Given the description of an element on the screen output the (x, y) to click on. 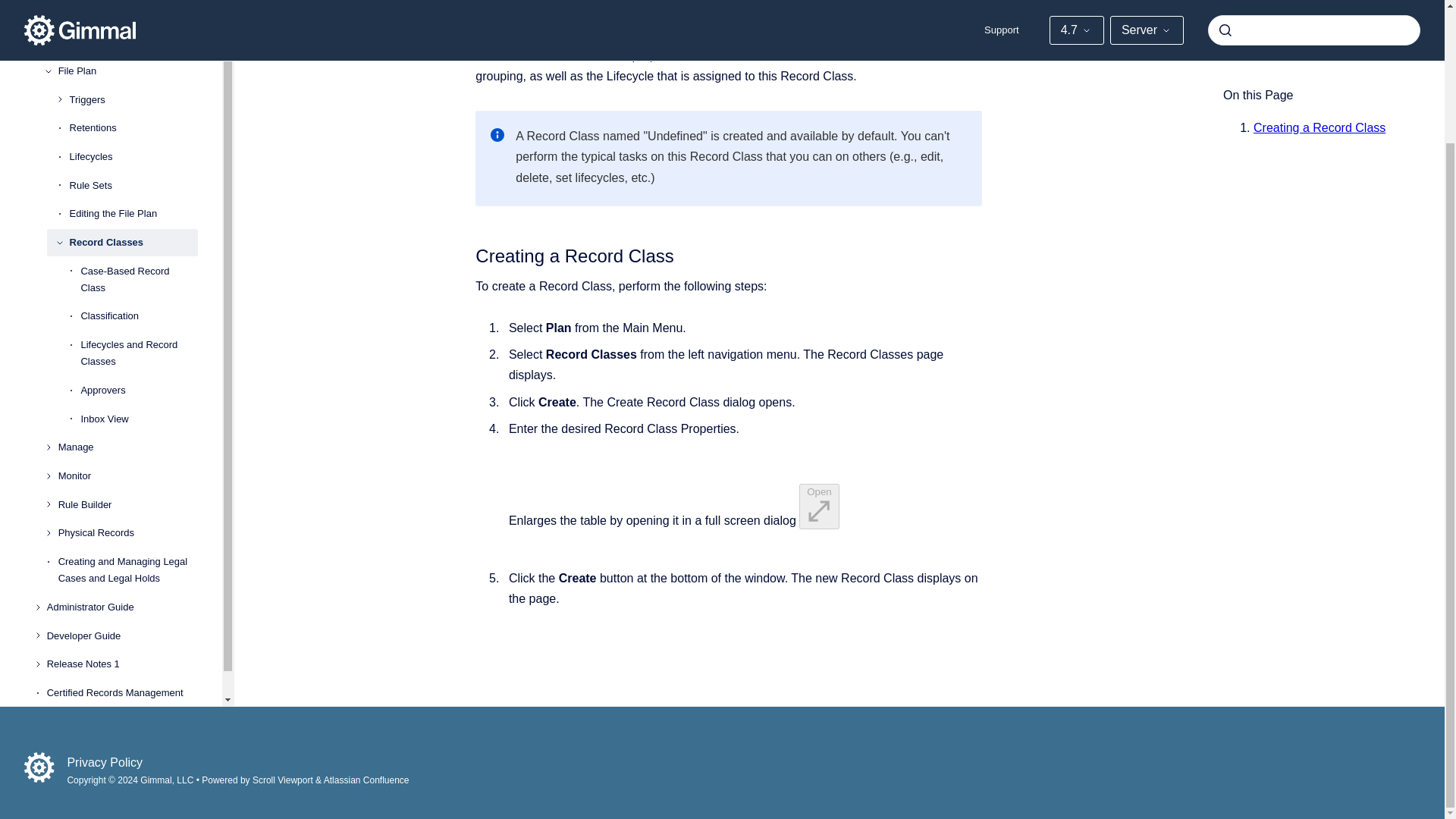
Lifecycles and Record Classes (139, 303)
Manage (128, 397)
Classification (139, 267)
Rule Builder (128, 455)
Inbox View (139, 370)
Triggers (133, 50)
Administrator Guide (122, 557)
Rule Sets (133, 135)
Approvers (139, 340)
Retentions (133, 78)
